Given the description of an element on the screen output the (x, y) to click on. 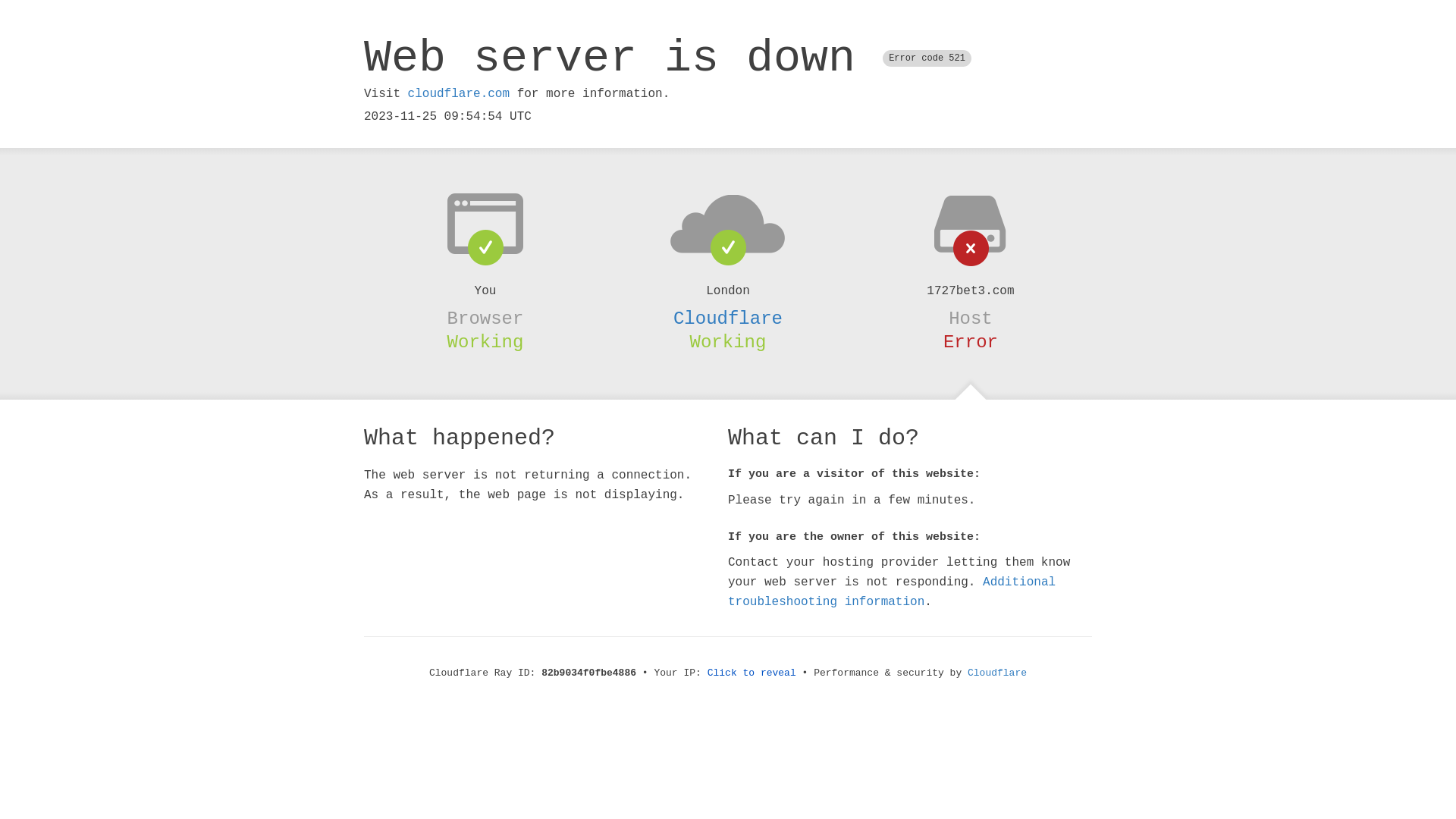
Cloudflare Element type: text (996, 672)
Click to reveal Element type: text (751, 672)
Additional troubleshooting information Element type: text (891, 591)
Cloudflare Element type: text (727, 318)
cloudflare.com Element type: text (458, 93)
